Given the description of an element on the screen output the (x, y) to click on. 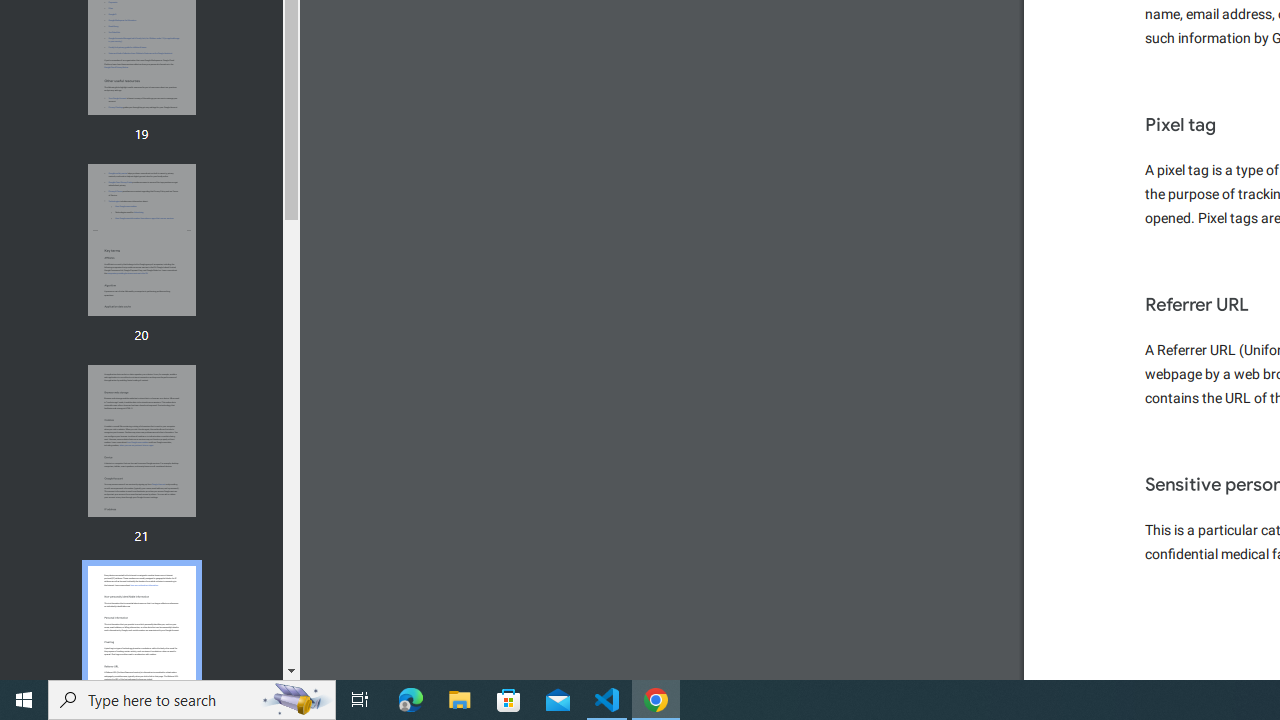
Thumbnail for page 20 (141, 240)
AutomationID: thumbnail (141, 641)
Thumbnail for page 21 (141, 441)
